Given the description of an element on the screen output the (x, y) to click on. 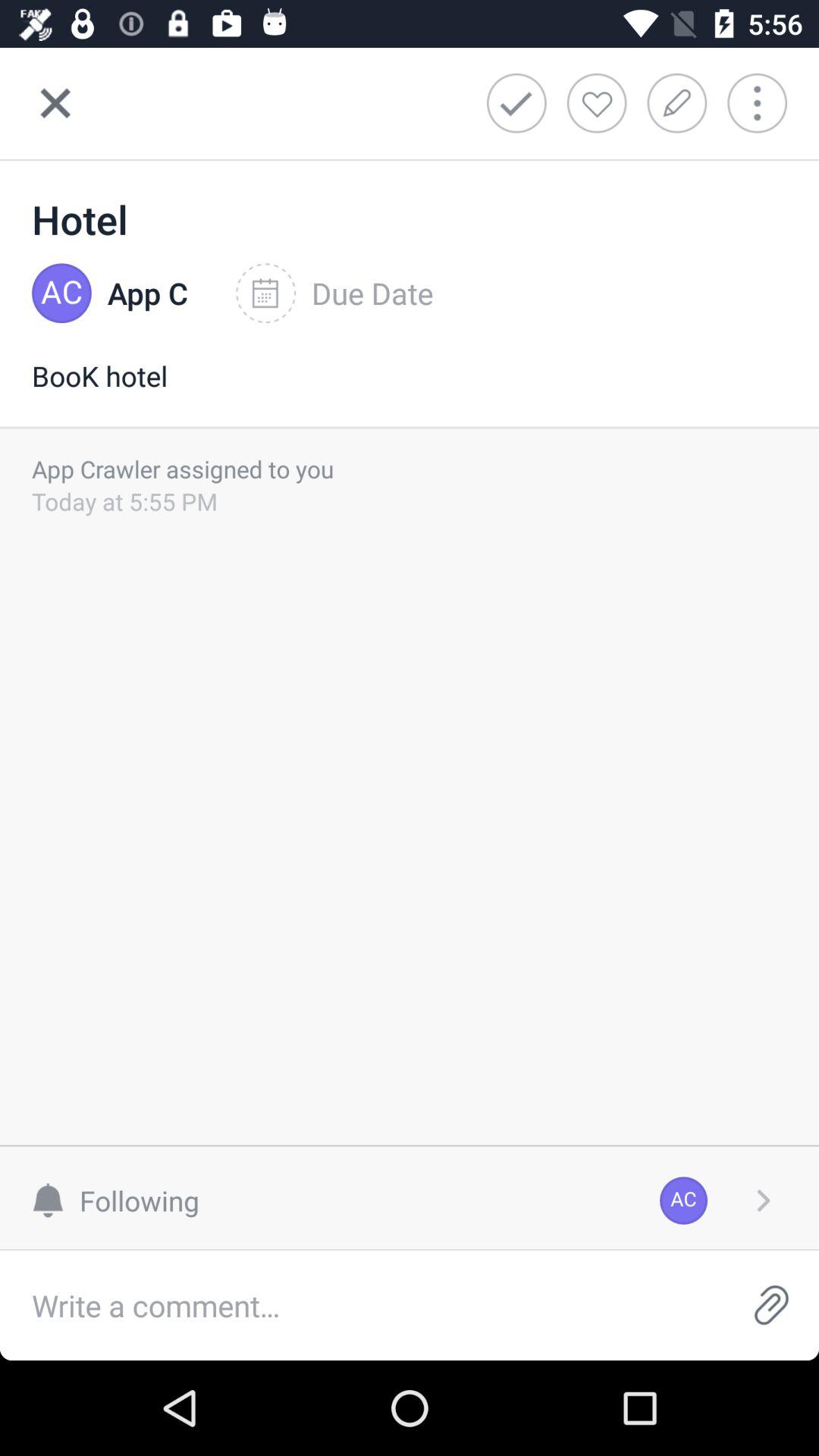
more info (768, 103)
